Given the description of an element on the screen output the (x, y) to click on. 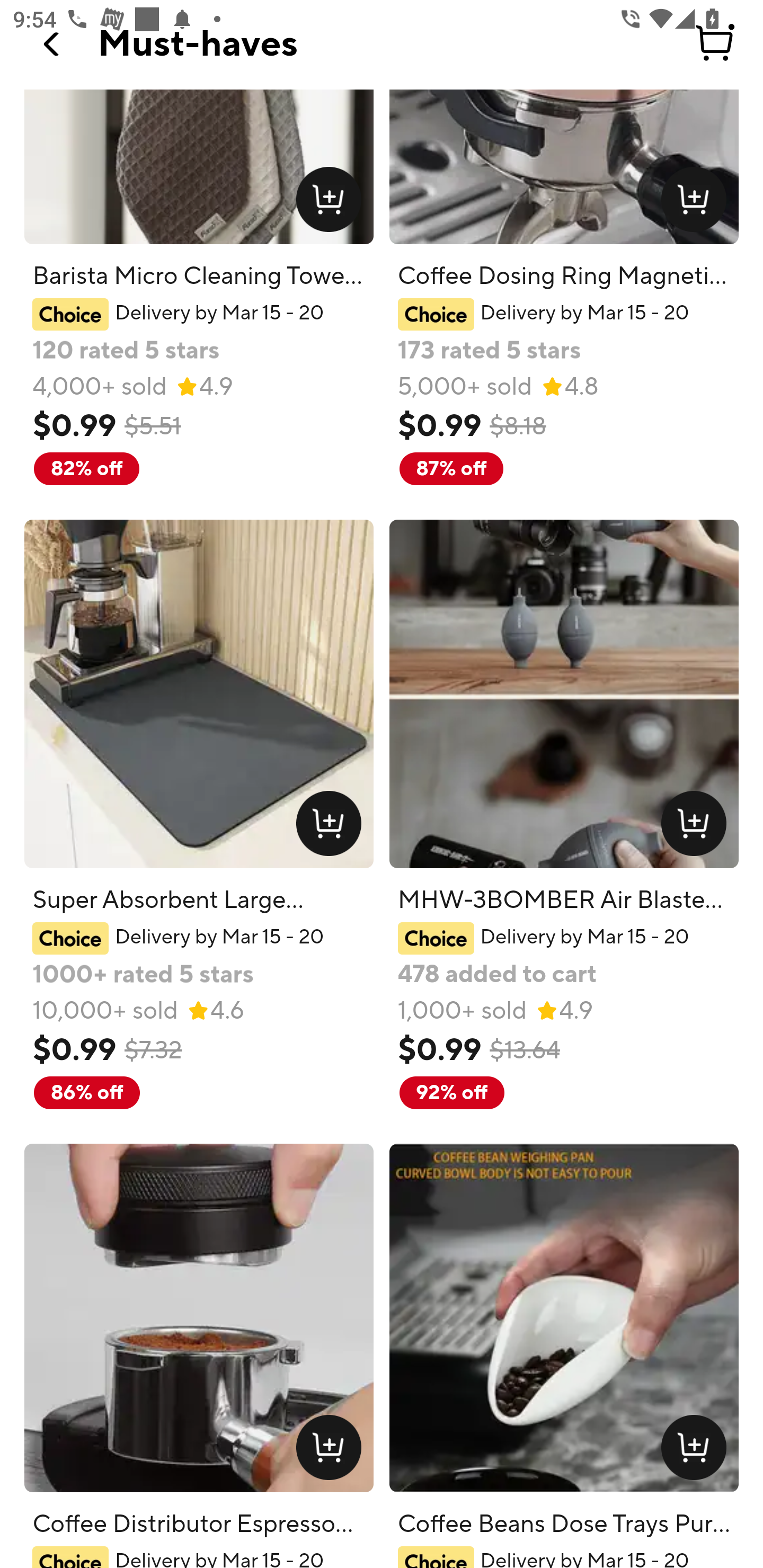
128x128.png_ (331, 202)
128x128.png_ (697, 202)
128x128.png_ (331, 827)
128x128.png_ (697, 827)
128x128.png_ (331, 1451)
128x128.png_ (697, 1451)
